Given the description of an element on the screen output the (x, y) to click on. 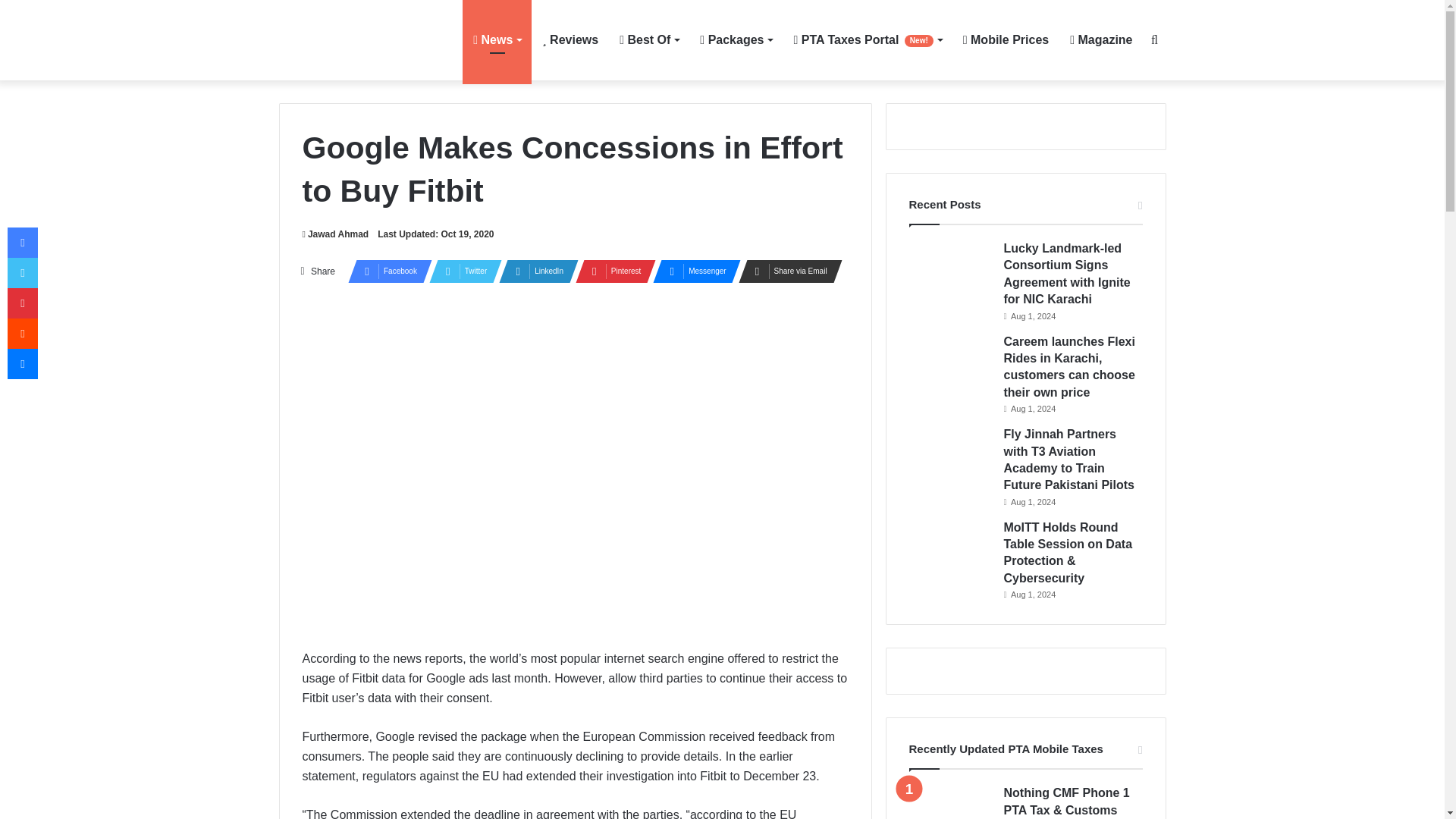
Pinterest (610, 271)
Magazine (1100, 40)
Share via Email (785, 271)
Facebook (385, 271)
Reviews (569, 40)
Messenger (692, 271)
Jawad Ahmad (334, 234)
PTA Taxes Portal New! (867, 40)
LinkedIn (534, 271)
Packages (735, 40)
Mobile Prices (1005, 40)
Best Of (648, 40)
Twitter (461, 271)
